Given the description of an element on the screen output the (x, y) to click on. 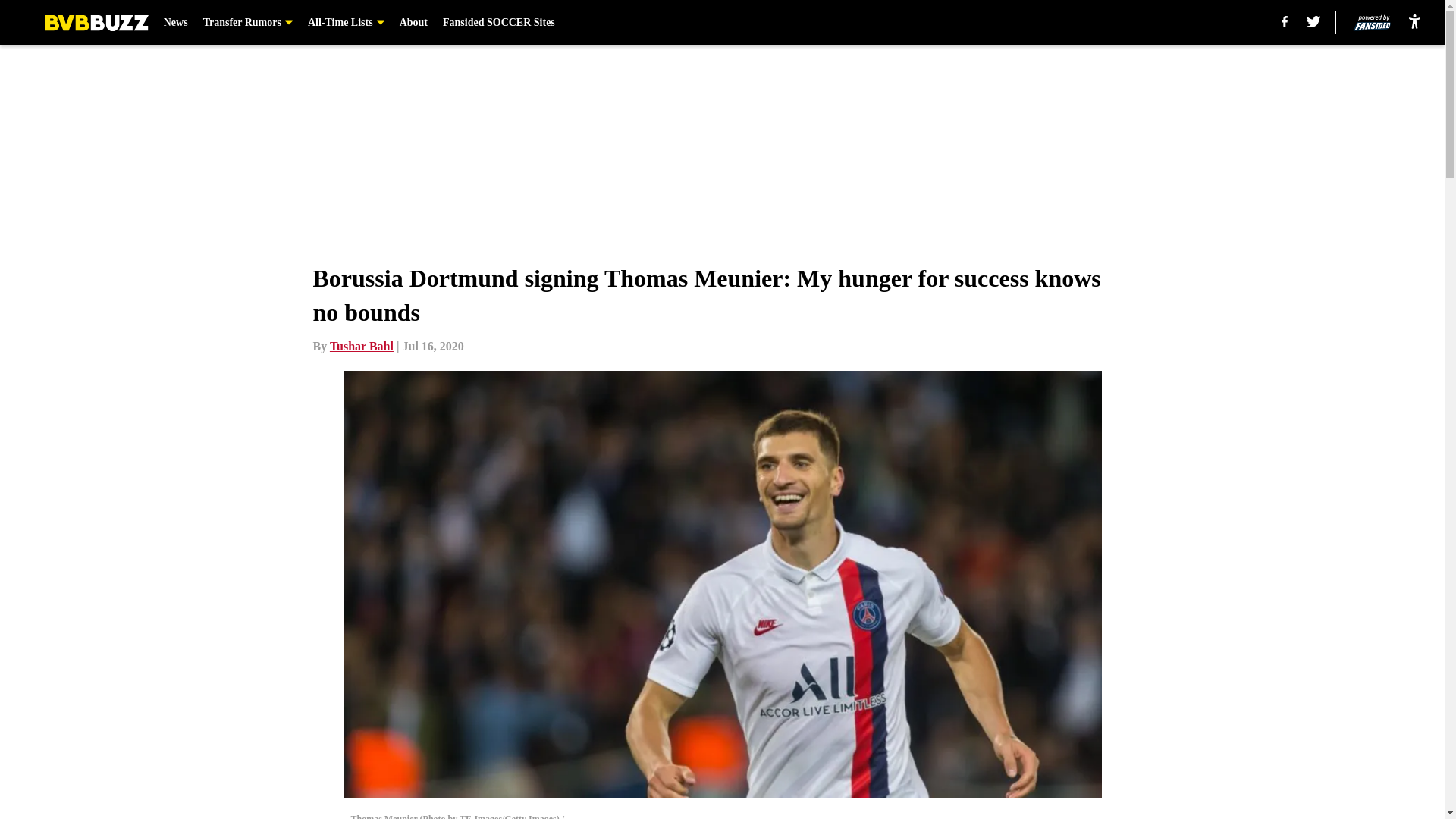
Tushar Bahl (361, 345)
About (413, 22)
News (175, 22)
Fansided SOCCER Sites (498, 22)
